Given the description of an element on the screen output the (x, y) to click on. 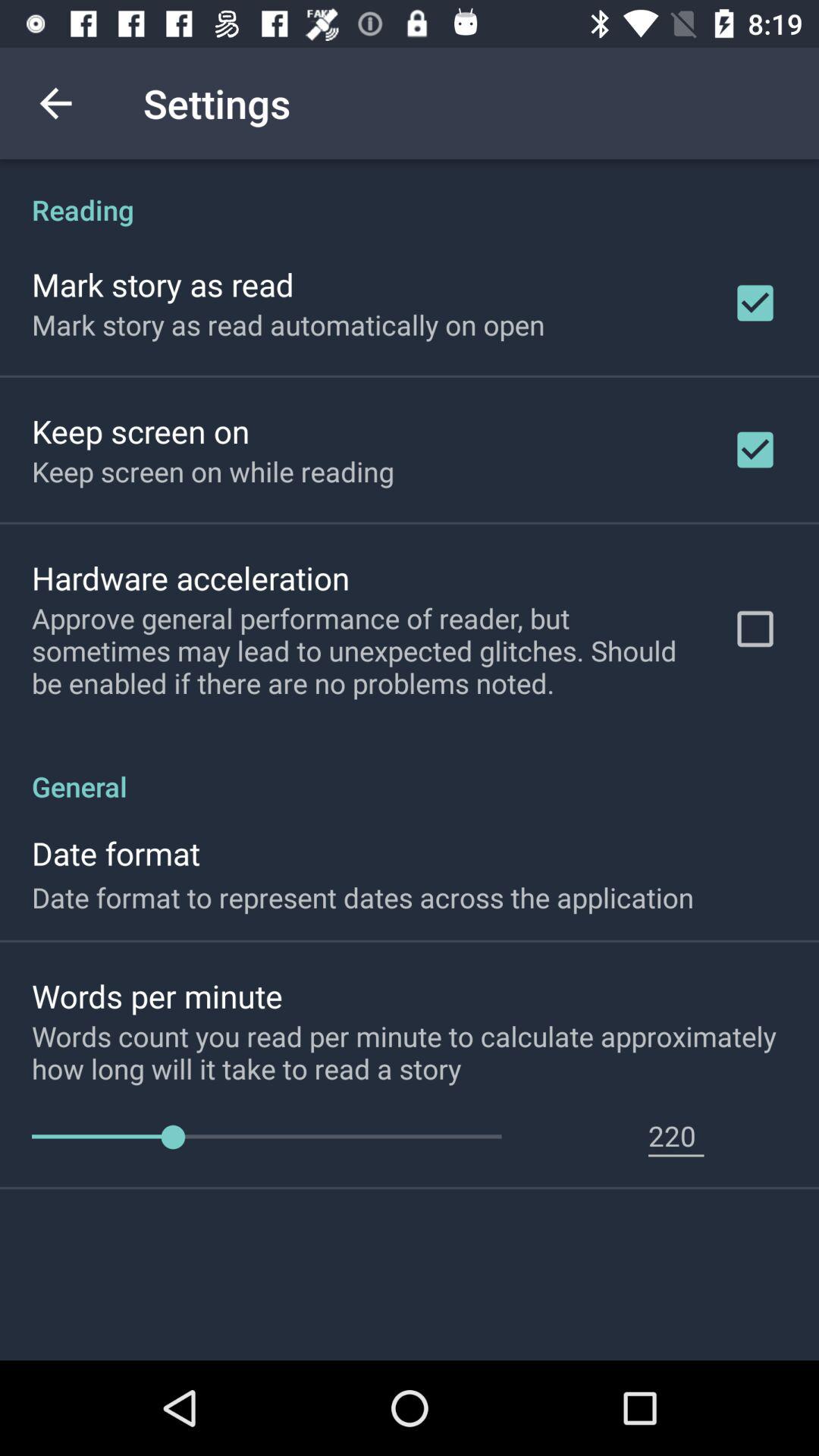
choose item below 220 (676, 1155)
